Given the description of an element on the screen output the (x, y) to click on. 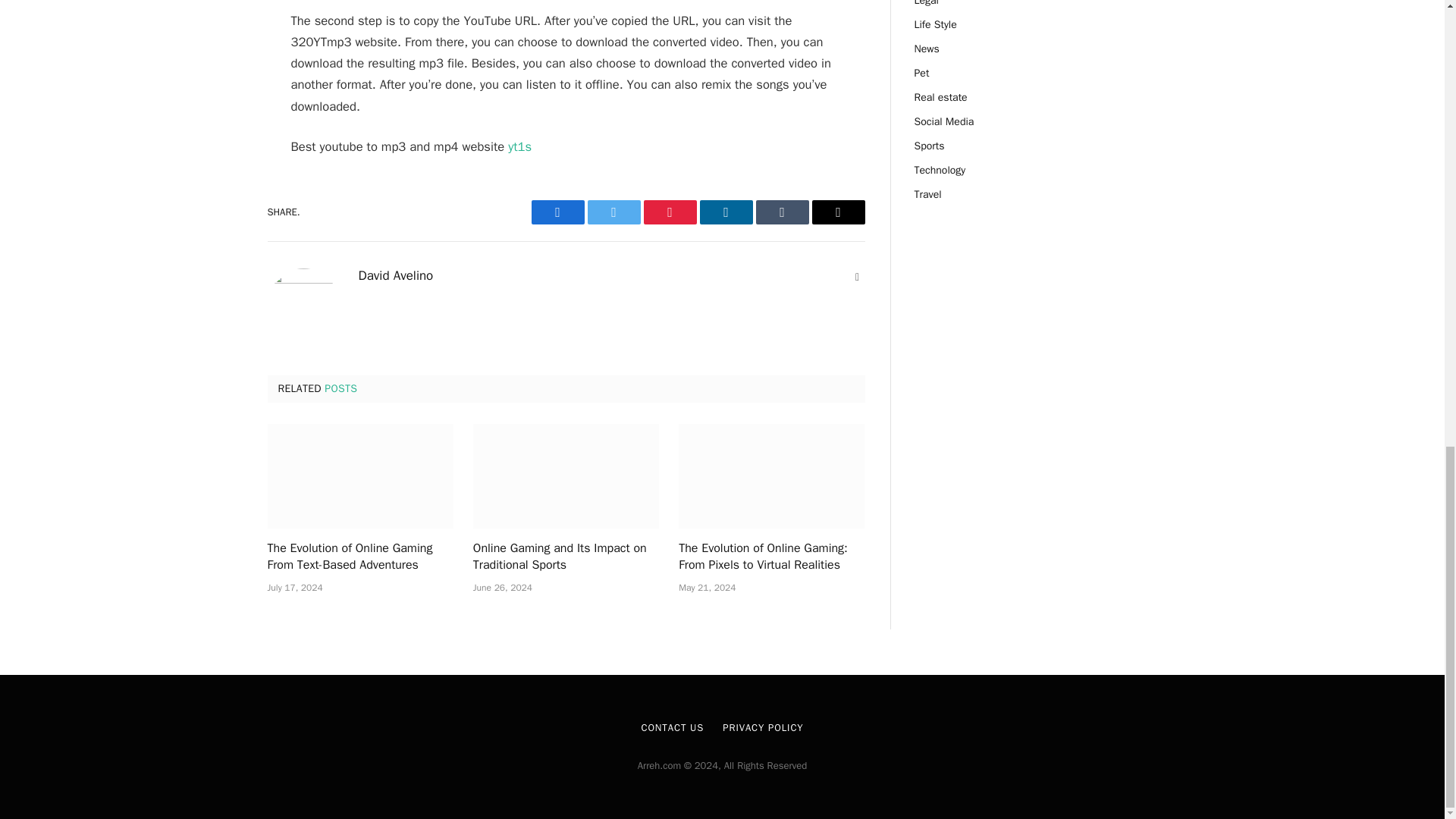
Twitter (613, 211)
Pinterest (669, 211)
yt1s (519, 146)
Facebook (557, 211)
